Given the description of an element on the screen output the (x, y) to click on. 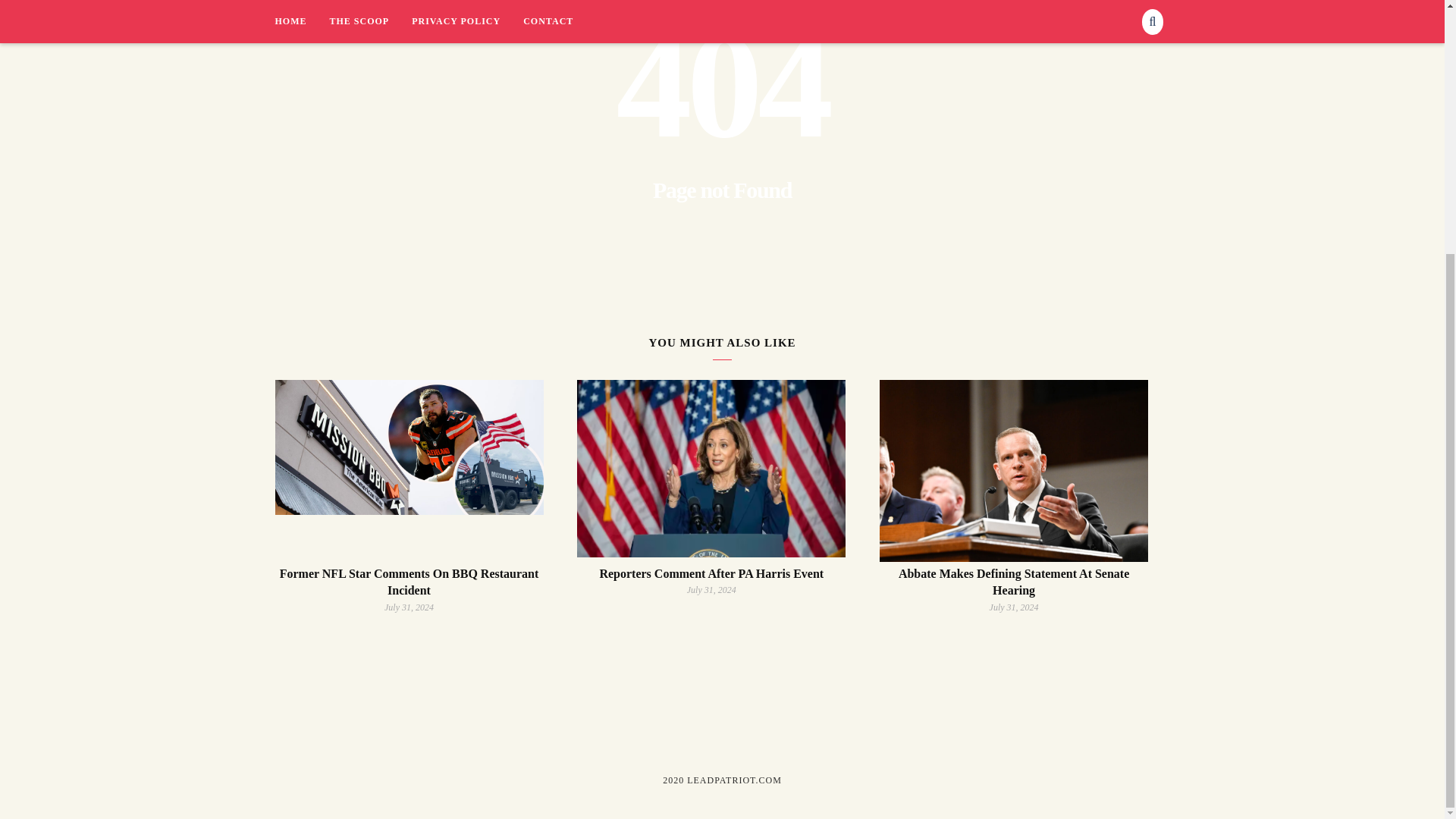
Abbate Makes Defining Statement At Senate Hearing (1013, 582)
Former NFL Star Comments On BBQ Restaurant Incident (408, 582)
Reporters Comment After PA Harris Event (711, 573)
